Given the description of an element on the screen output the (x, y) to click on. 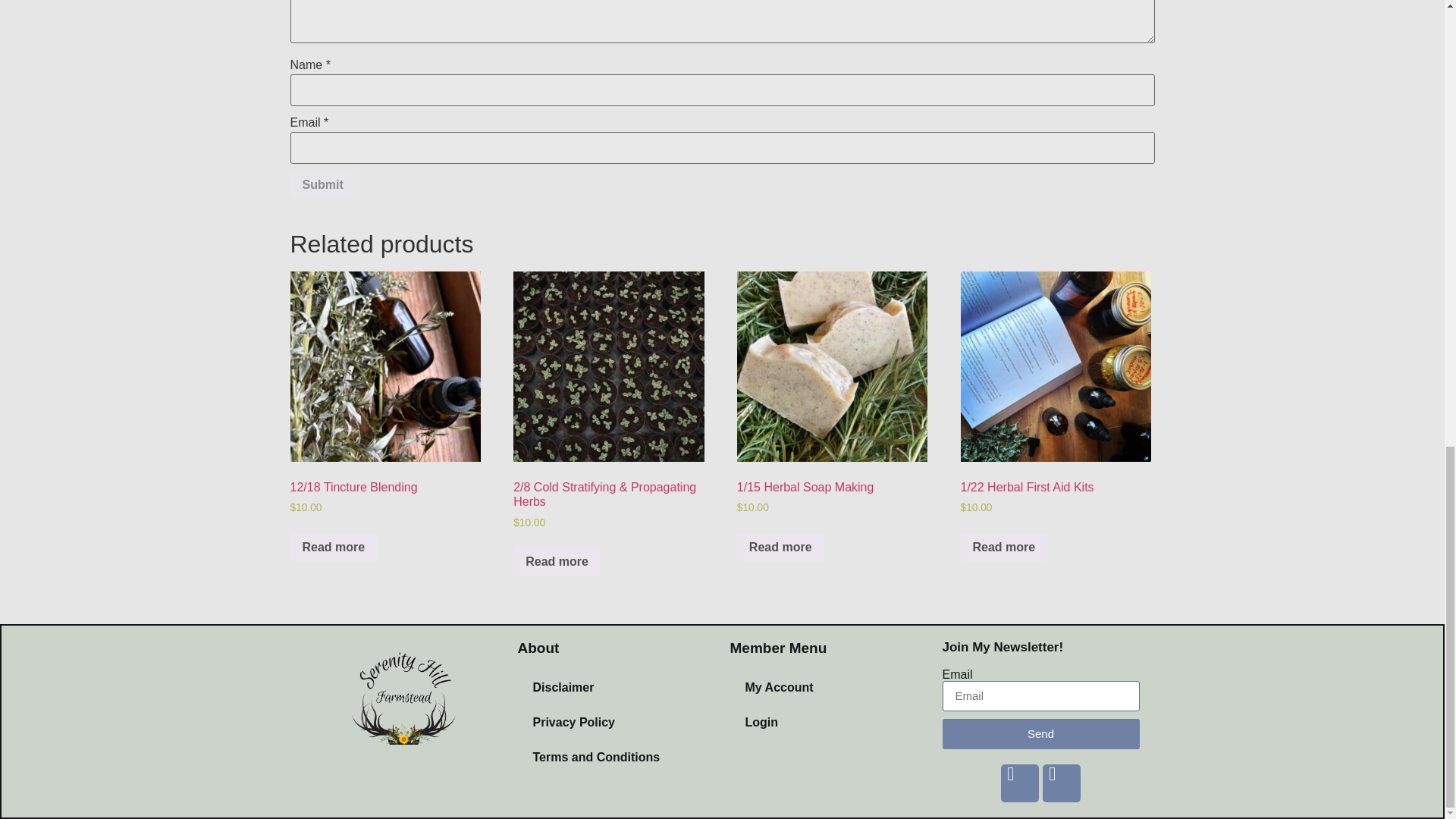
Submit (322, 185)
